Given the description of an element on the screen output the (x, y) to click on. 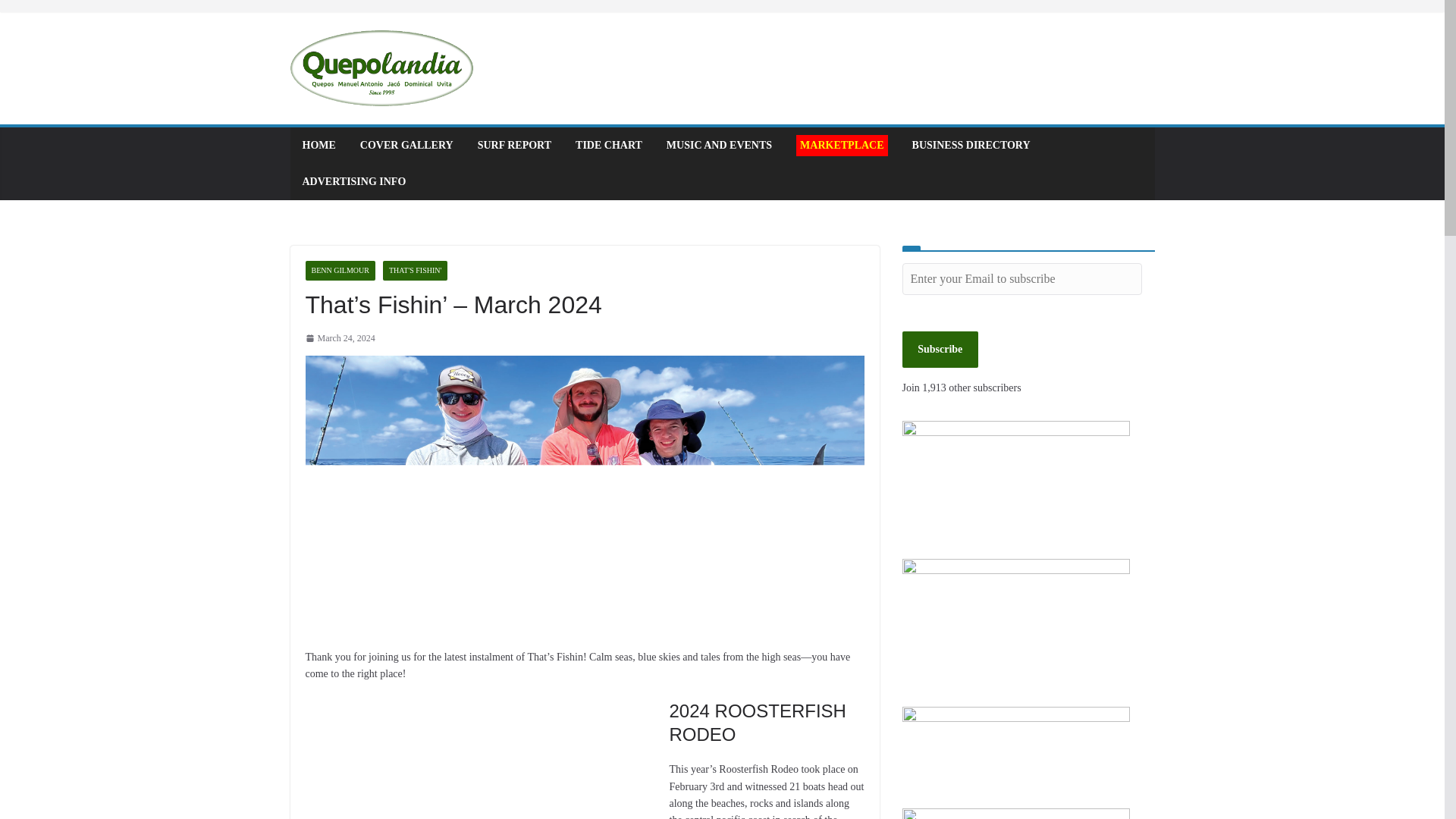
MUSIC AND EVENTS (718, 145)
MARKETPLACE (841, 145)
BENN GILMOUR (339, 270)
March 24, 2024 (339, 338)
BUSINESS DIRECTORY (971, 145)
SURF REPORT (514, 145)
COVER GALLERY (405, 145)
1:03 pm (339, 338)
THAT'S FISHIN' (414, 270)
Subscribe (940, 349)
